Given the description of an element on the screen output the (x, y) to click on. 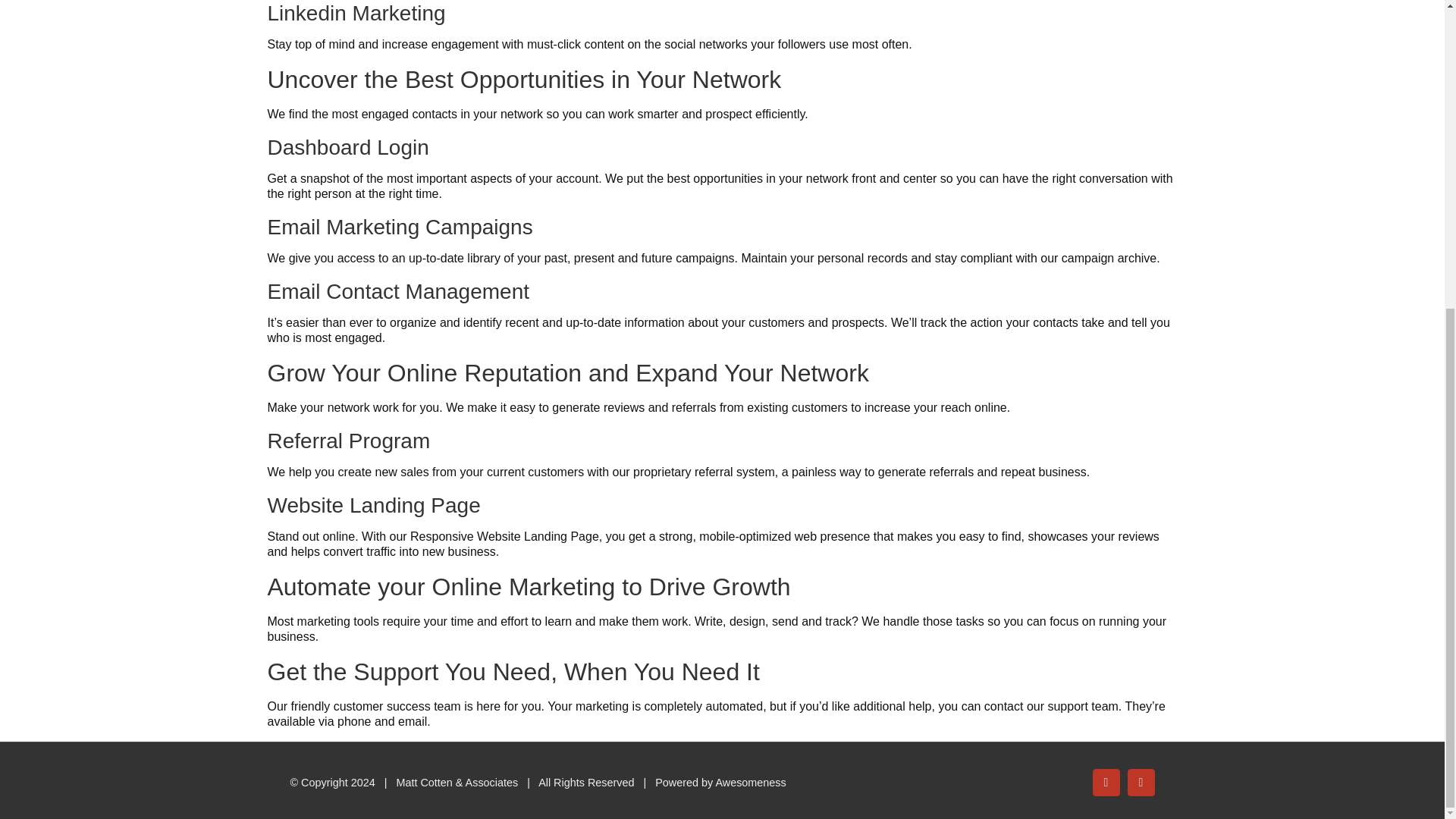
Facebook (1105, 782)
LinkedIn (1140, 782)
Facebook (1105, 782)
LinkedIn (1140, 782)
